Given the description of an element on the screen output the (x, y) to click on. 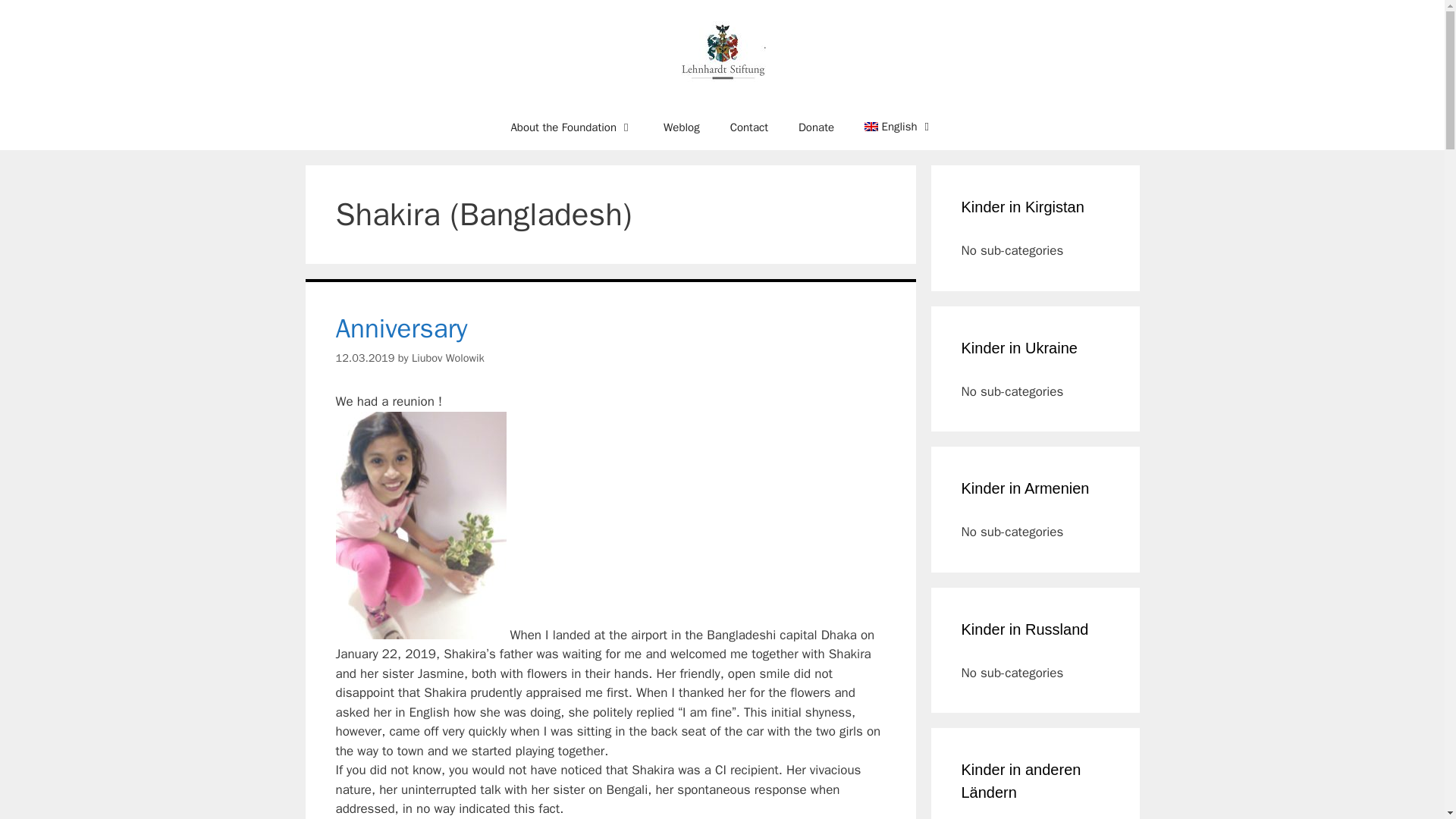
English (898, 126)
Weblog (680, 126)
Donate (815, 126)
Liubov Wolowik (448, 357)
Anniversary (400, 328)
About the Foundation (571, 126)
View all posts by Liubov Wolowik (448, 357)
English (898, 126)
Contact (748, 126)
